Given the description of an element on the screen output the (x, y) to click on. 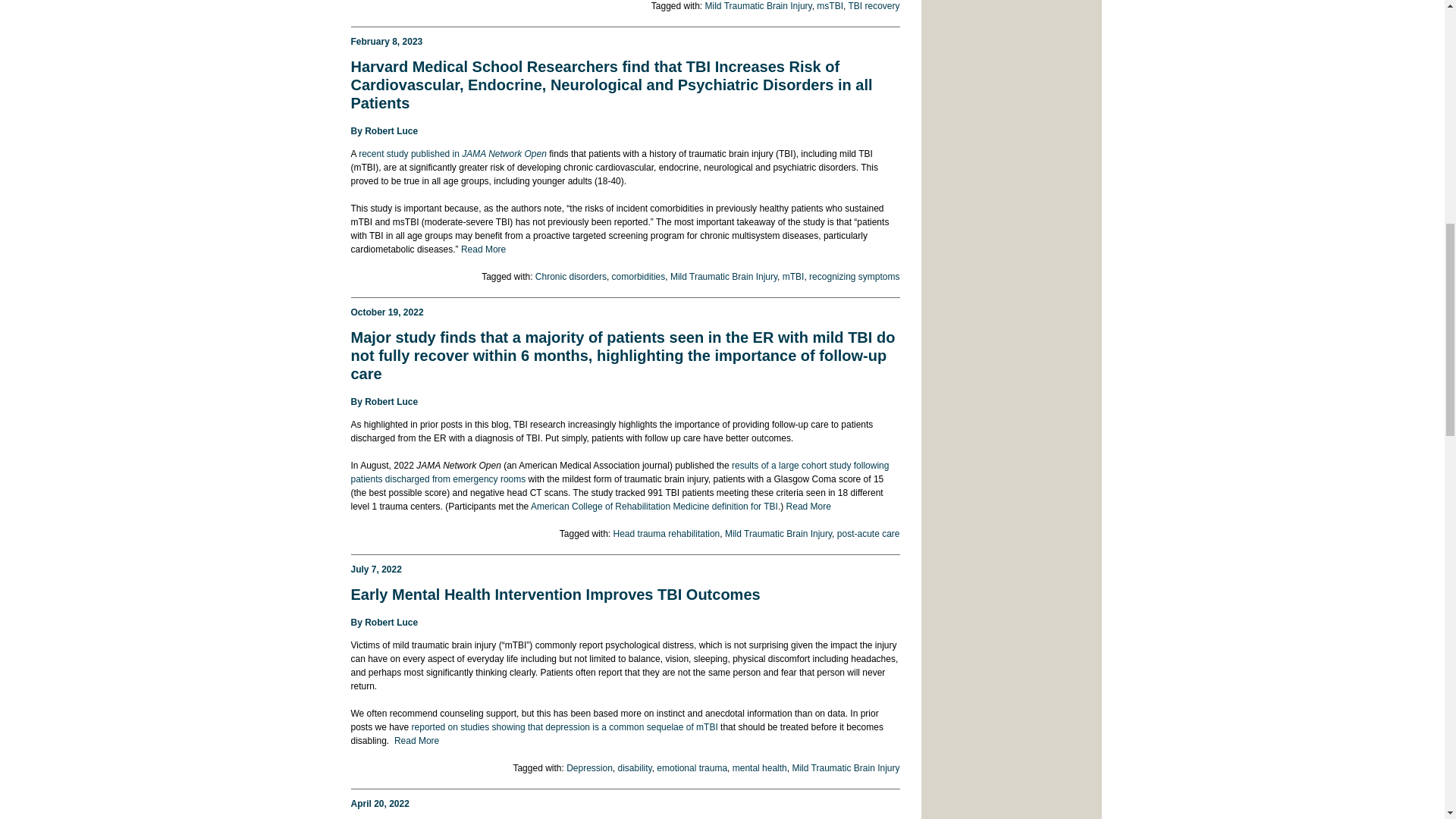
mTBI (794, 276)
msTBI (829, 5)
Robert Luce (391, 131)
Mild Traumatic Brain Injury (723, 276)
Posts by Robert Luce (391, 401)
Mild Traumatic Brain Injury (758, 5)
Posts by Robert Luce (391, 131)
Posts by Robert Luce (391, 622)
Read More (483, 249)
